Given the description of an element on the screen output the (x, y) to click on. 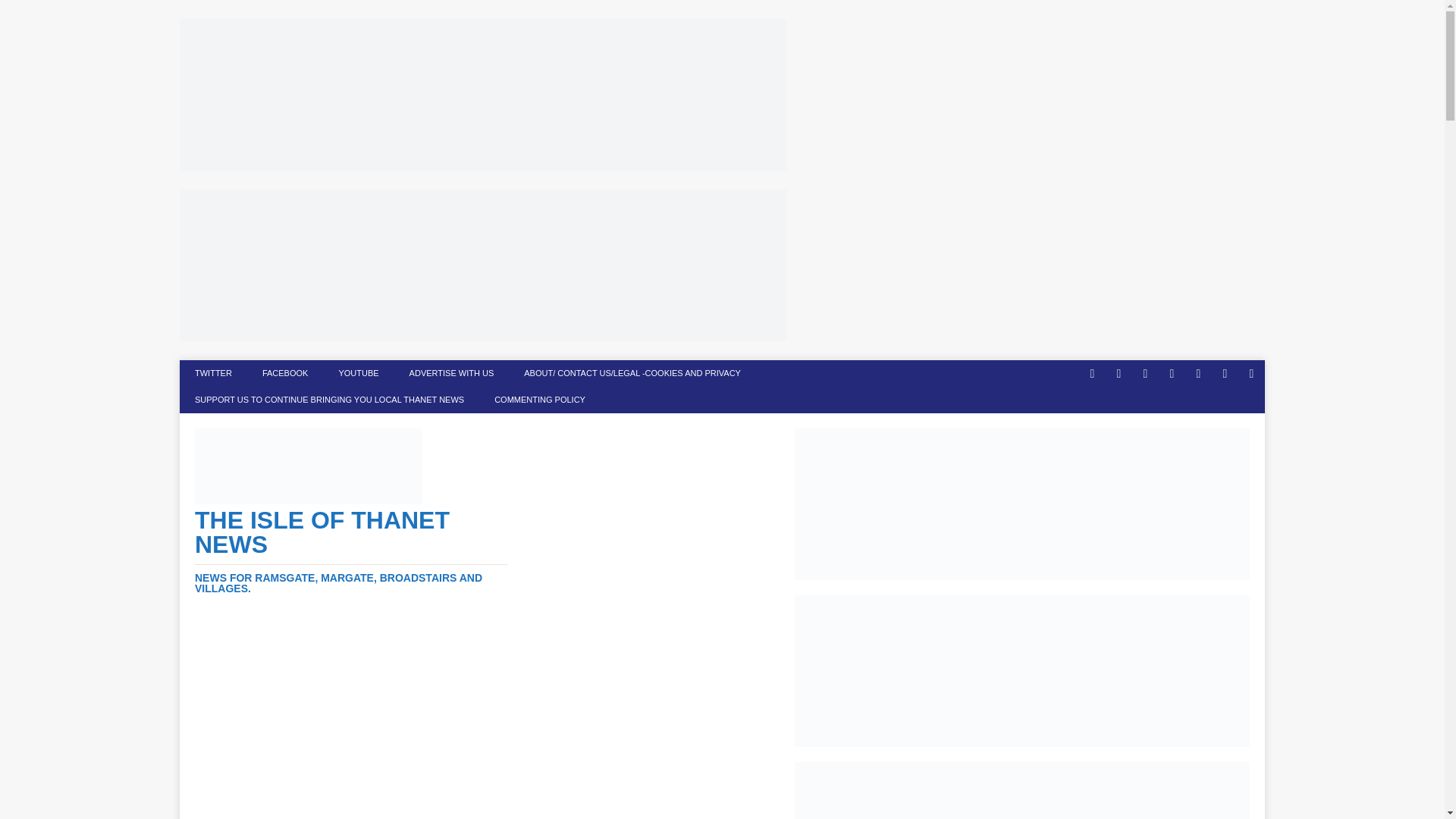
ADVERTISE WITH US (451, 373)
TWITTER (213, 373)
COMMENTING POLICY (539, 399)
YOUTUBE (358, 373)
SUPPORT US TO CONTINUE BRINGING YOU LOCAL THANET NEWS (329, 399)
FACEBOOK (285, 373)
The Isle Of Thanet News (351, 550)
